Given the description of an element on the screen output the (x, y) to click on. 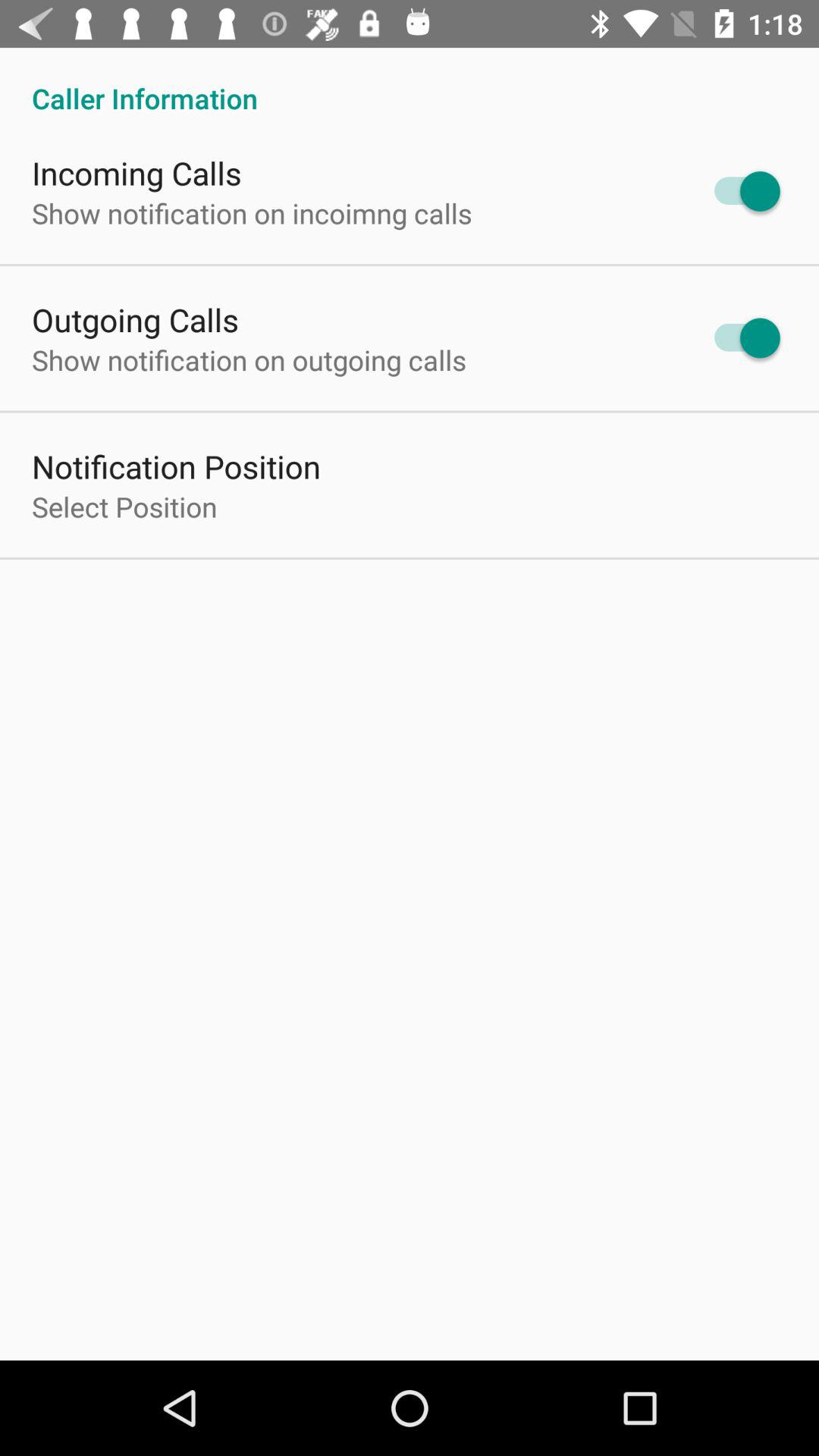
turn off icon below show notification on app (175, 465)
